Given the description of an element on the screen output the (x, y) to click on. 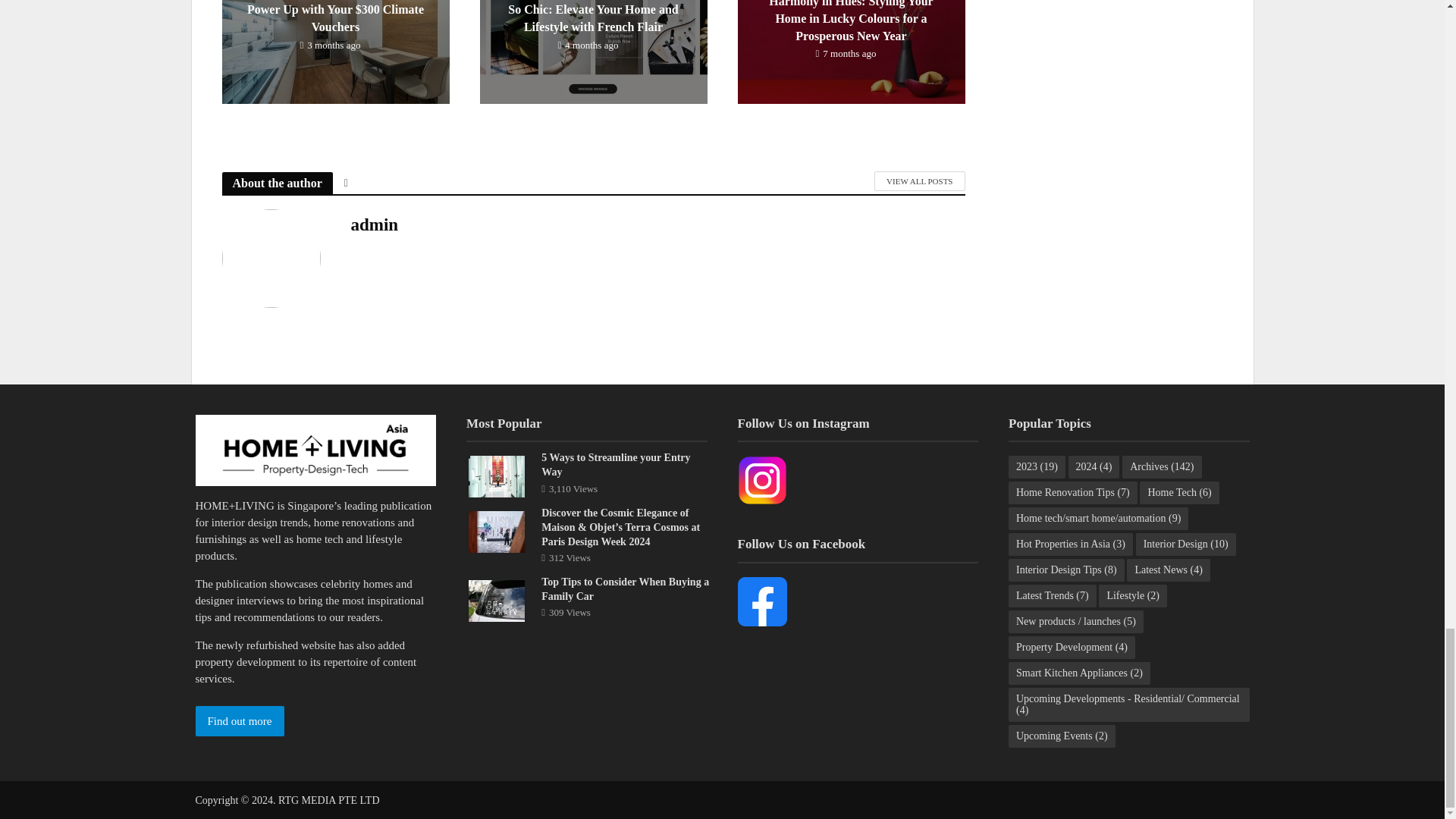
Top Tips to Consider When Buying a Family Car (496, 599)
5 Ways to Streamline your Entry Way (496, 475)
Follow Us on Facebook (761, 601)
Follow Us on Instagram (761, 480)
So Chic: Elevate Your Home and Lifestyle with French Flair (592, 26)
